Given the description of an element on the screen output the (x, y) to click on. 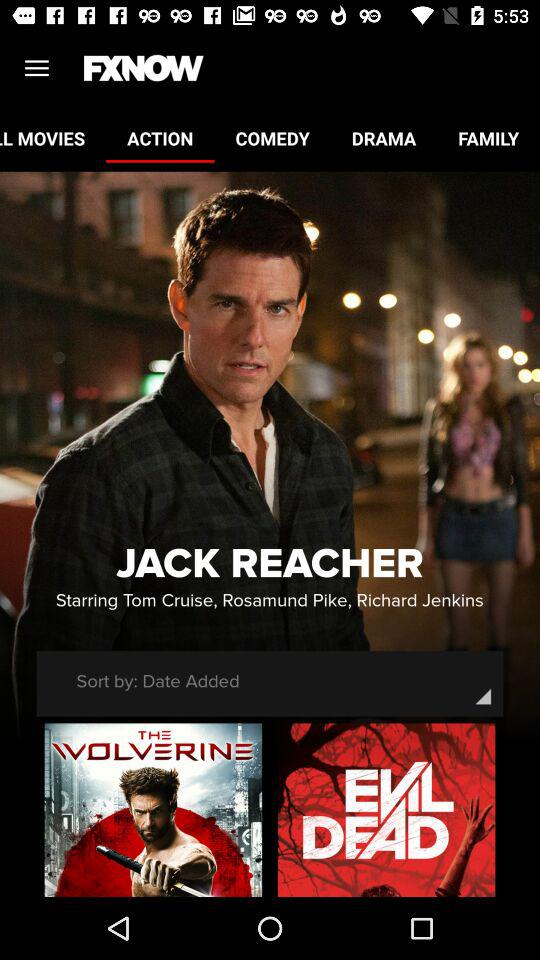
choose the action item (160, 138)
